Given the description of an element on the screen output the (x, y) to click on. 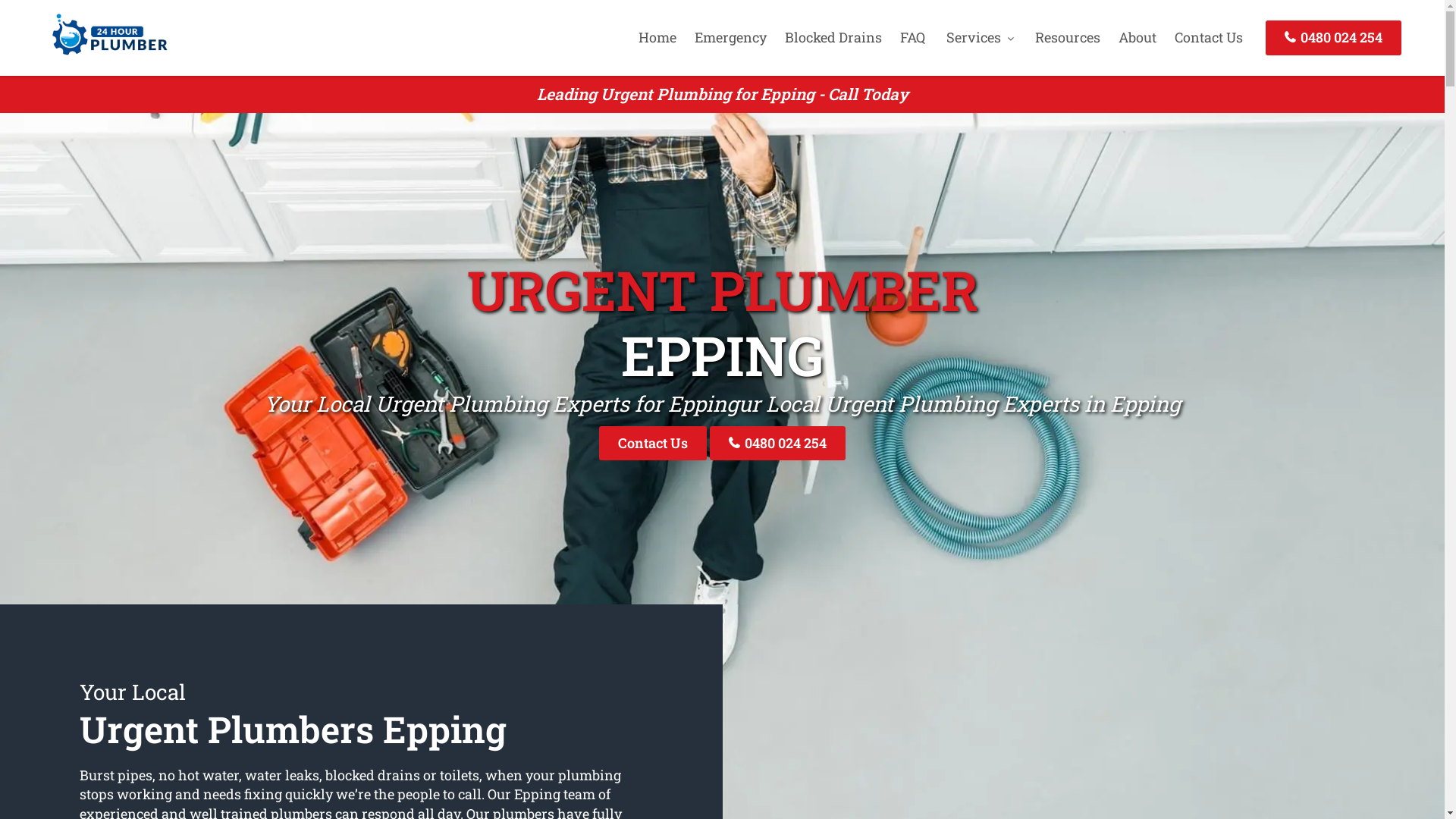
FAQ Element type: text (912, 37)
Blocked Drains Element type: text (833, 37)
Services Element type: text (979, 37)
0480 024 254 Element type: text (777, 443)
Contact Us Element type: text (1208, 37)
Emergency Element type: text (730, 37)
Resources Element type: text (1067, 37)
24 Hour Plumber Element type: hover (105, 56)
0480 024 254 Element type: text (1333, 37)
Home Element type: text (657, 37)
About Element type: text (1137, 37)
Contact Us Element type: text (652, 443)
